Given the description of an element on the screen output the (x, y) to click on. 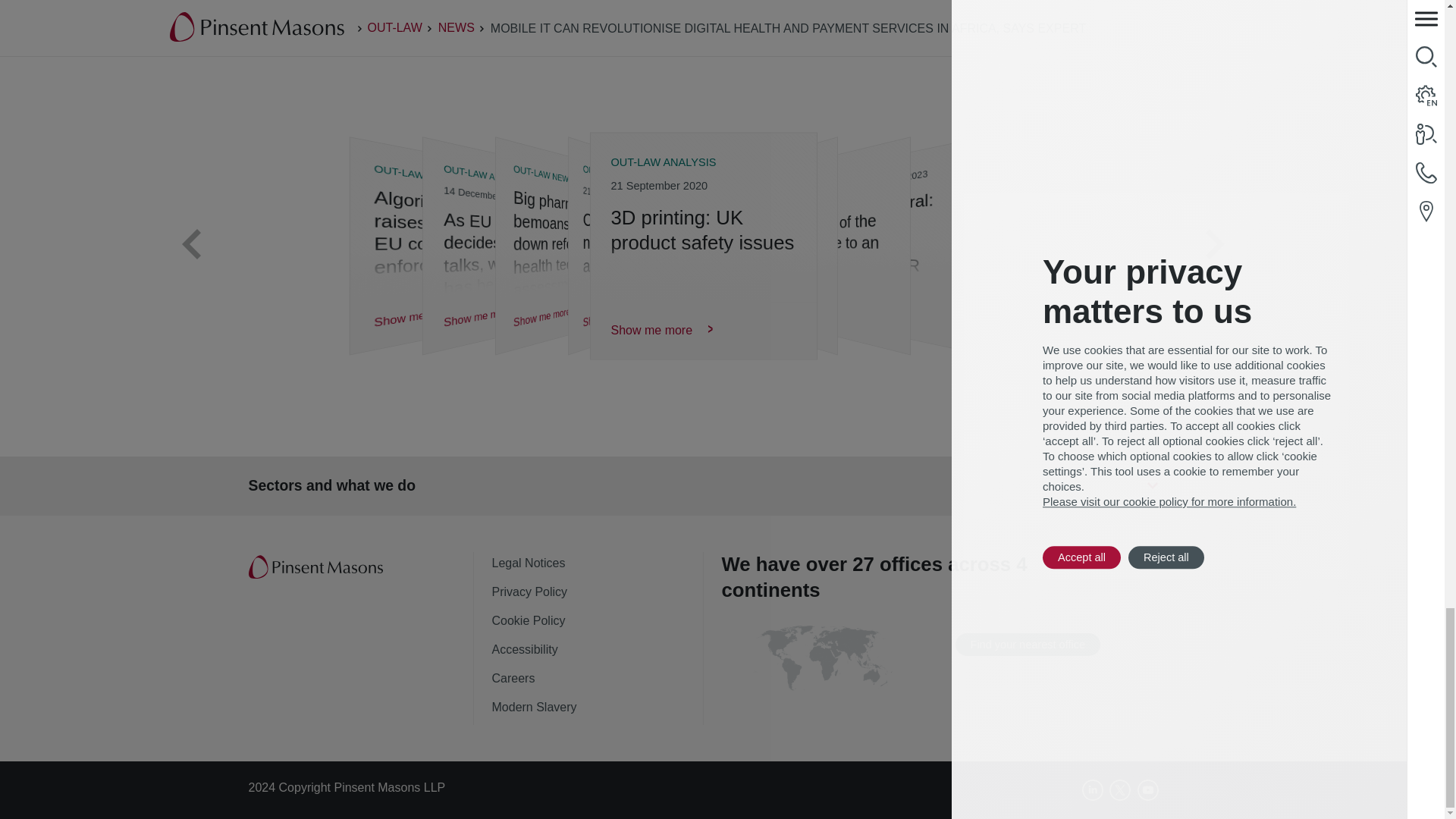
Pinsent Masons (316, 567)
Pinsent Masons LinkedIn (1092, 789)
Pinsent Masons Twitter (1120, 789)
